Given the description of an element on the screen output the (x, y) to click on. 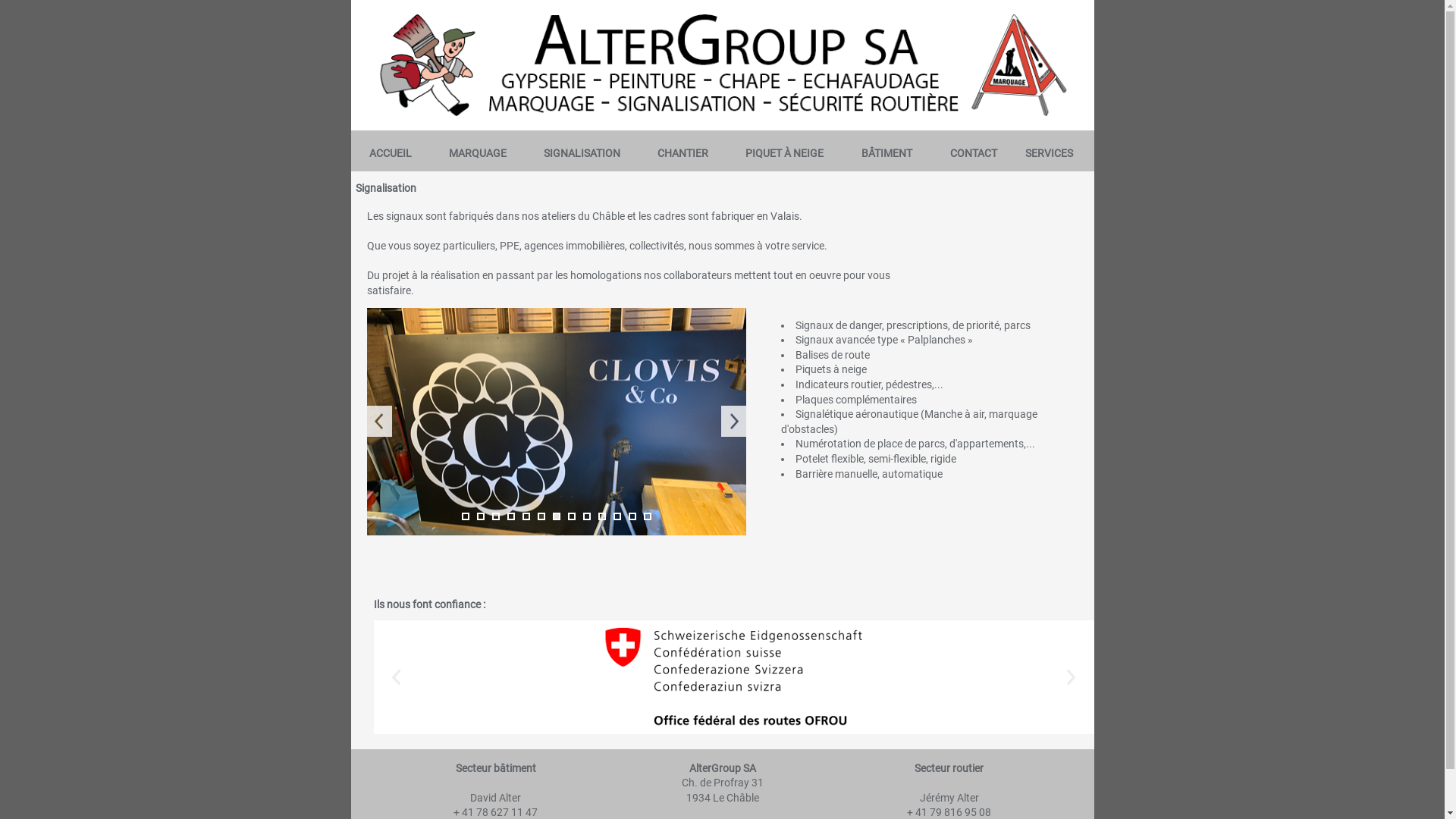
> Element type: text (1070, 676)
SERVICES Element type: text (1049, 152)
CONTACT Element type: text (973, 152)
ACCUEIL Element type: text (389, 152)
< Element type: text (395, 676)
CHANTIER Element type: text (682, 152)
SIGNALISATION Element type: text (581, 152)
< Element type: text (379, 420)
> Element type: text (732, 420)
MARQUAGE Element type: text (477, 152)
